Given the description of an element on the screen output the (x, y) to click on. 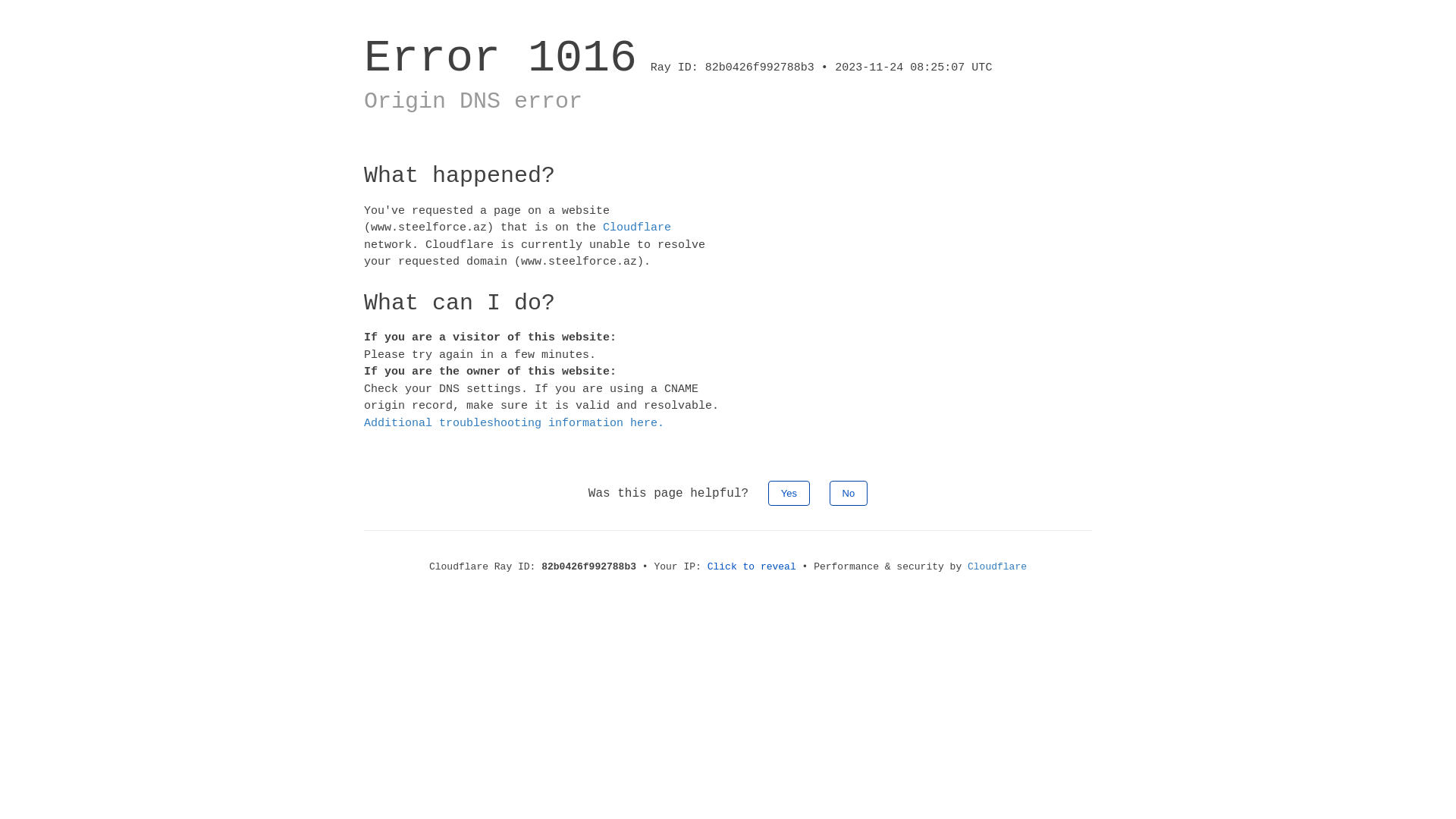
Additional troubleshooting information here. Element type: text (514, 423)
Cloudflare Element type: text (636, 227)
Yes Element type: text (788, 492)
Cloudflare Element type: text (996, 566)
No Element type: text (848, 492)
Click to reveal Element type: text (751, 566)
